Given the description of an element on the screen output the (x, y) to click on. 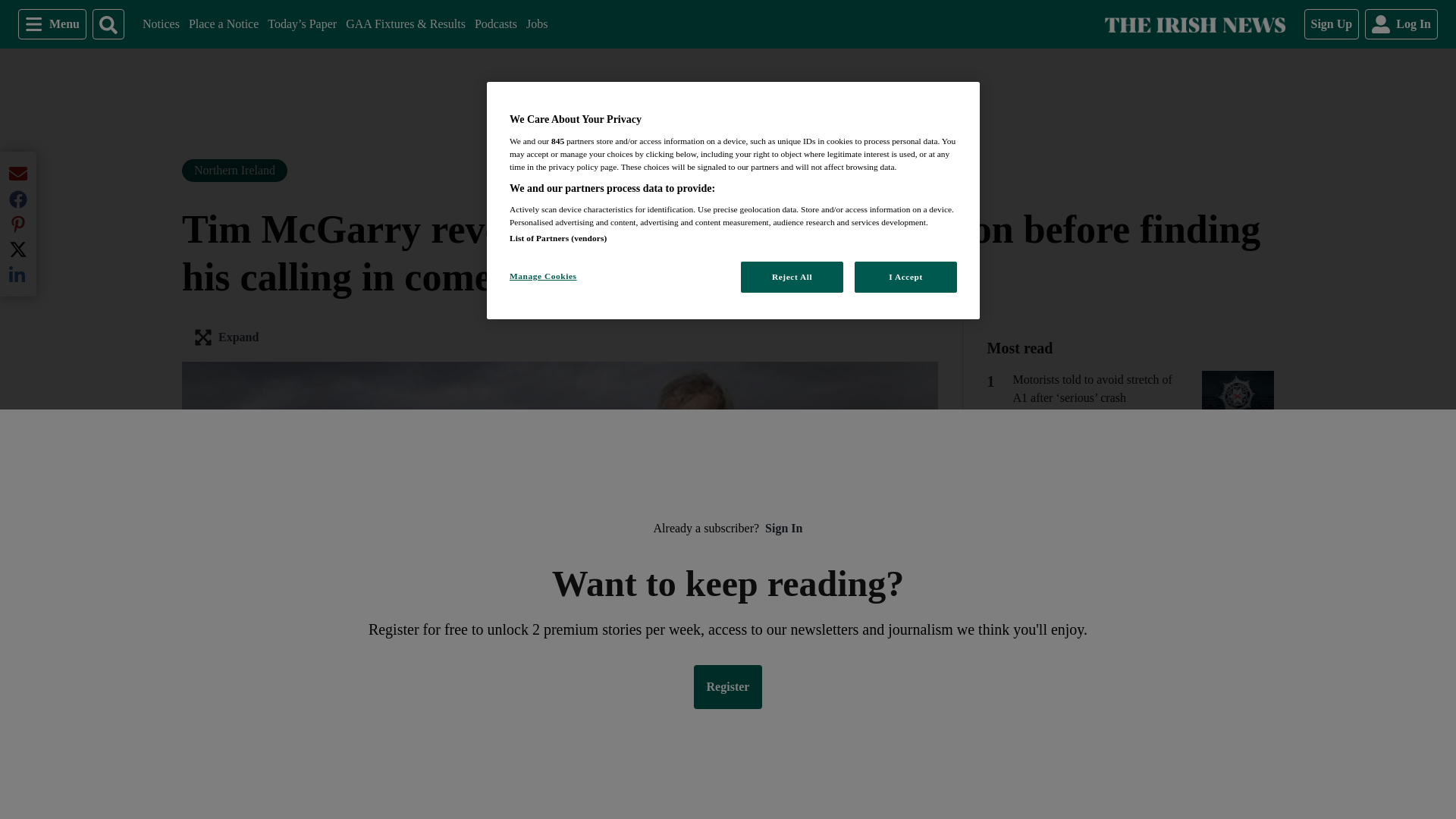
Sign Up (536, 24)
Podcasts (1331, 24)
The Irish News (224, 24)
Menu (495, 24)
Log In (1194, 23)
